Given the description of an element on the screen output the (x, y) to click on. 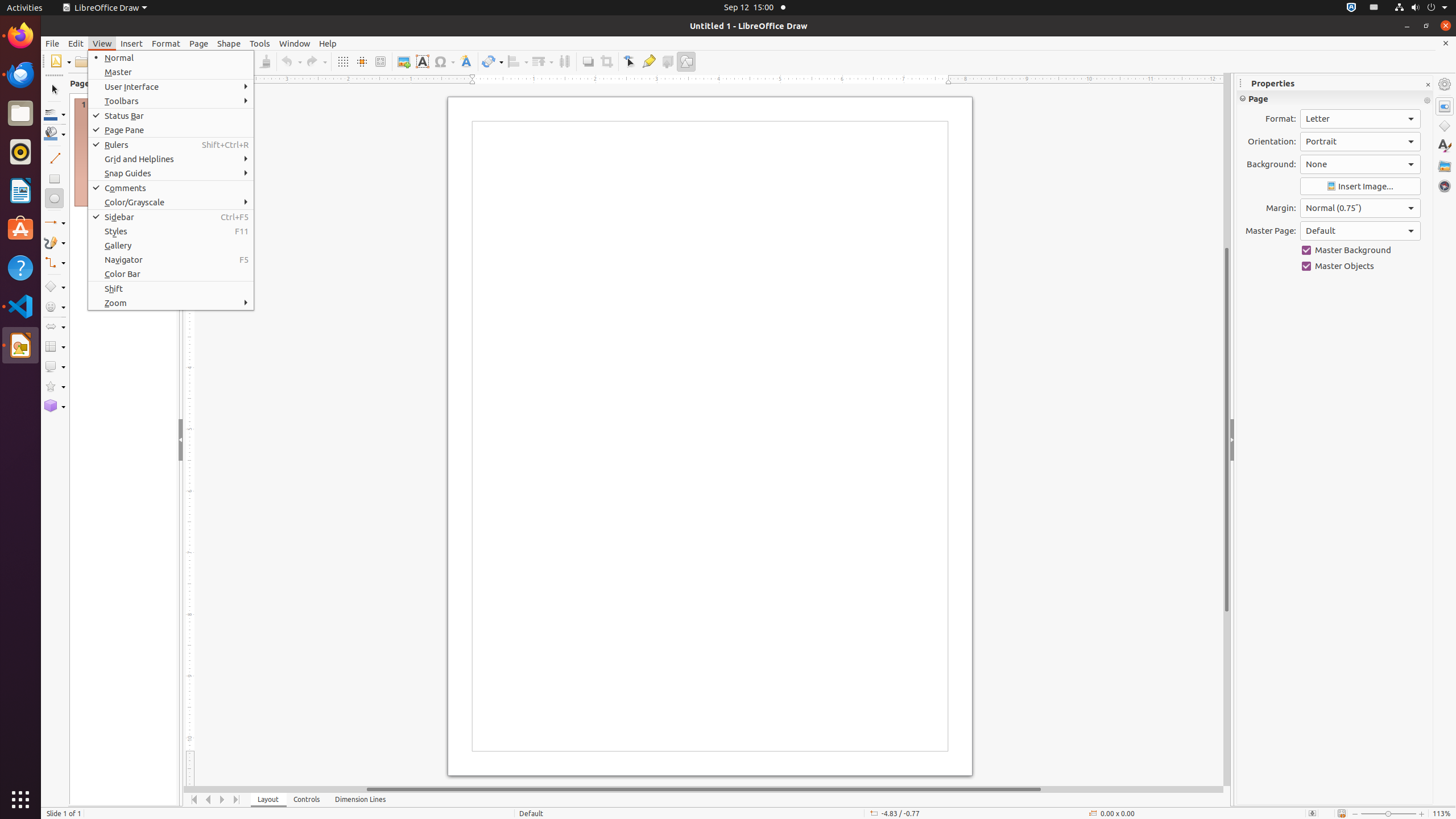
Grid Element type: toggle-button (342, 61)
Page Element type: menu (198, 43)
Styles Element type: menu-item (170, 231)
Zoom Element type: menu (170, 302)
Edit Element type: menu (75, 43)
